Given the description of an element on the screen output the (x, y) to click on. 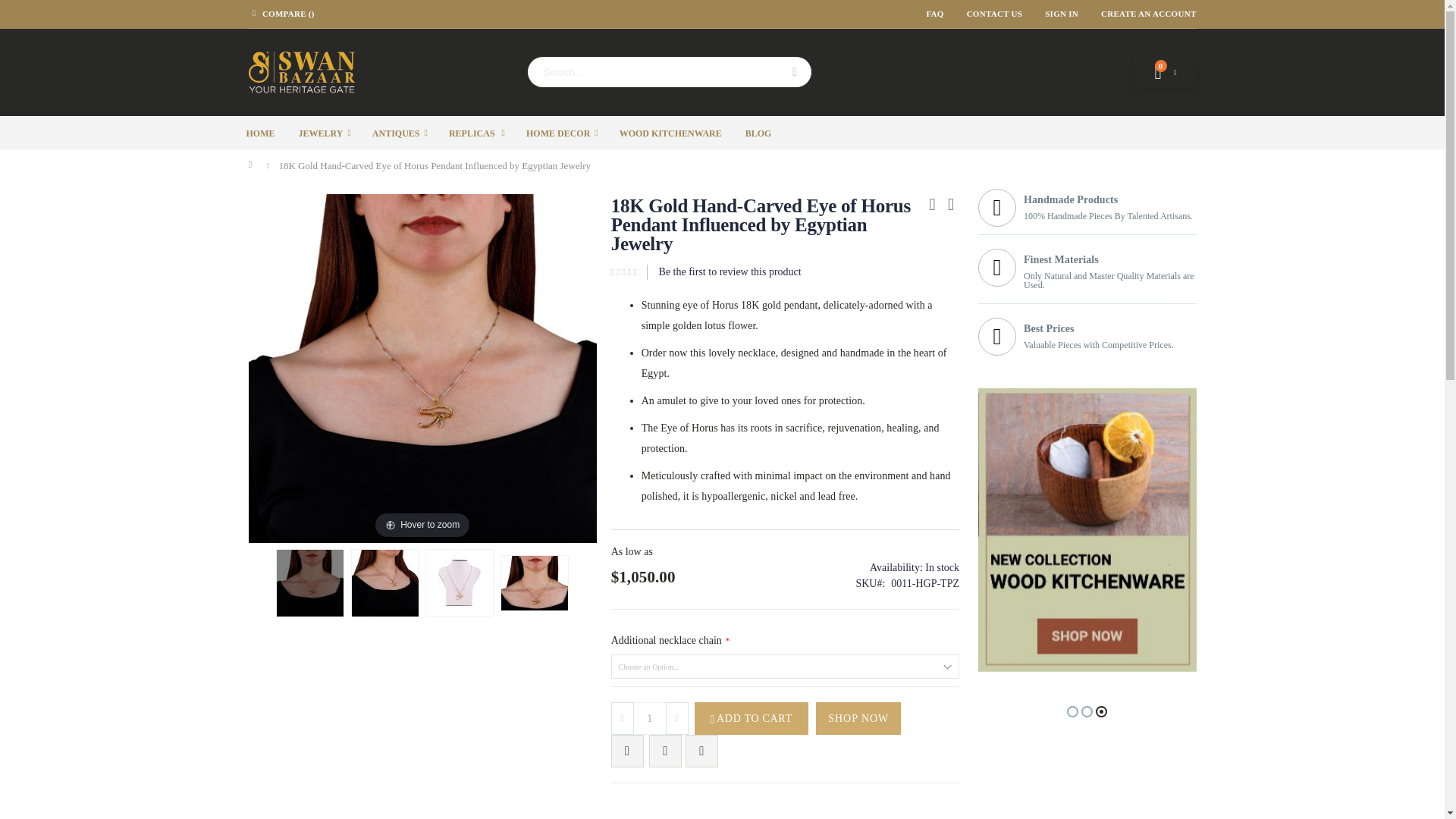
HOME DECOR (561, 132)
REPLICAS (476, 132)
BLOG (758, 132)
WOOD KITCHENWARE (670, 132)
1 (649, 717)
Search (793, 71)
ANTIQUES (399, 132)
SIGN IN (1061, 13)
CONTACT US (994, 13)
Jewelry (324, 132)
Compare Products (281, 13)
FAQ (934, 13)
HOME (259, 132)
Swan Bazaar (301, 72)
CREATE AN ACCOUNT (1142, 13)
